Given the description of an element on the screen output the (x, y) to click on. 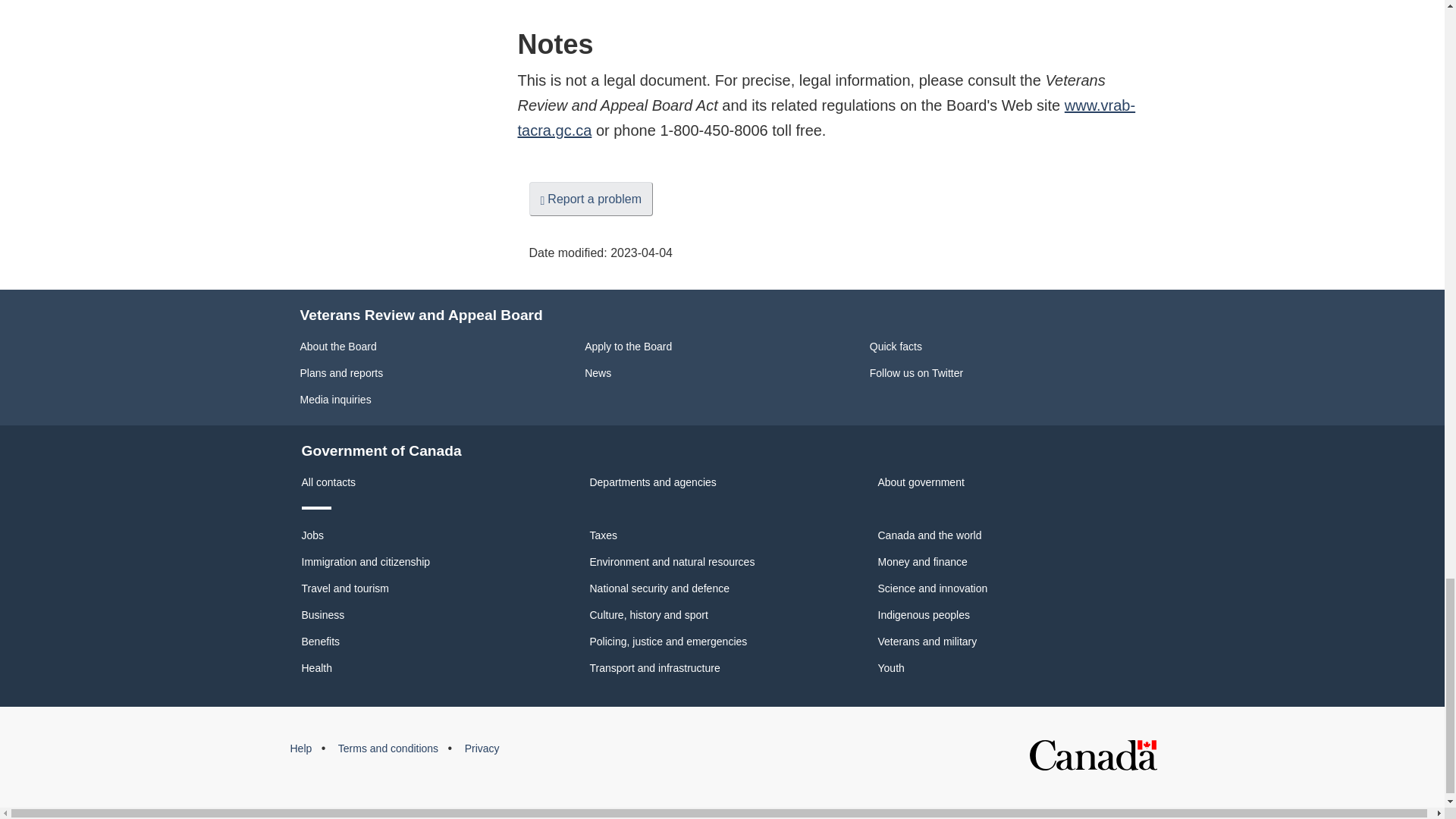
Information on the Veterans Review and Appeal Board (338, 346)
Veterans Review and Appeal Board web site (825, 117)
Summary of key information about the Board (895, 346)
Information on how to apply to the Board (628, 346)
